Given the description of an element on the screen output the (x, y) to click on. 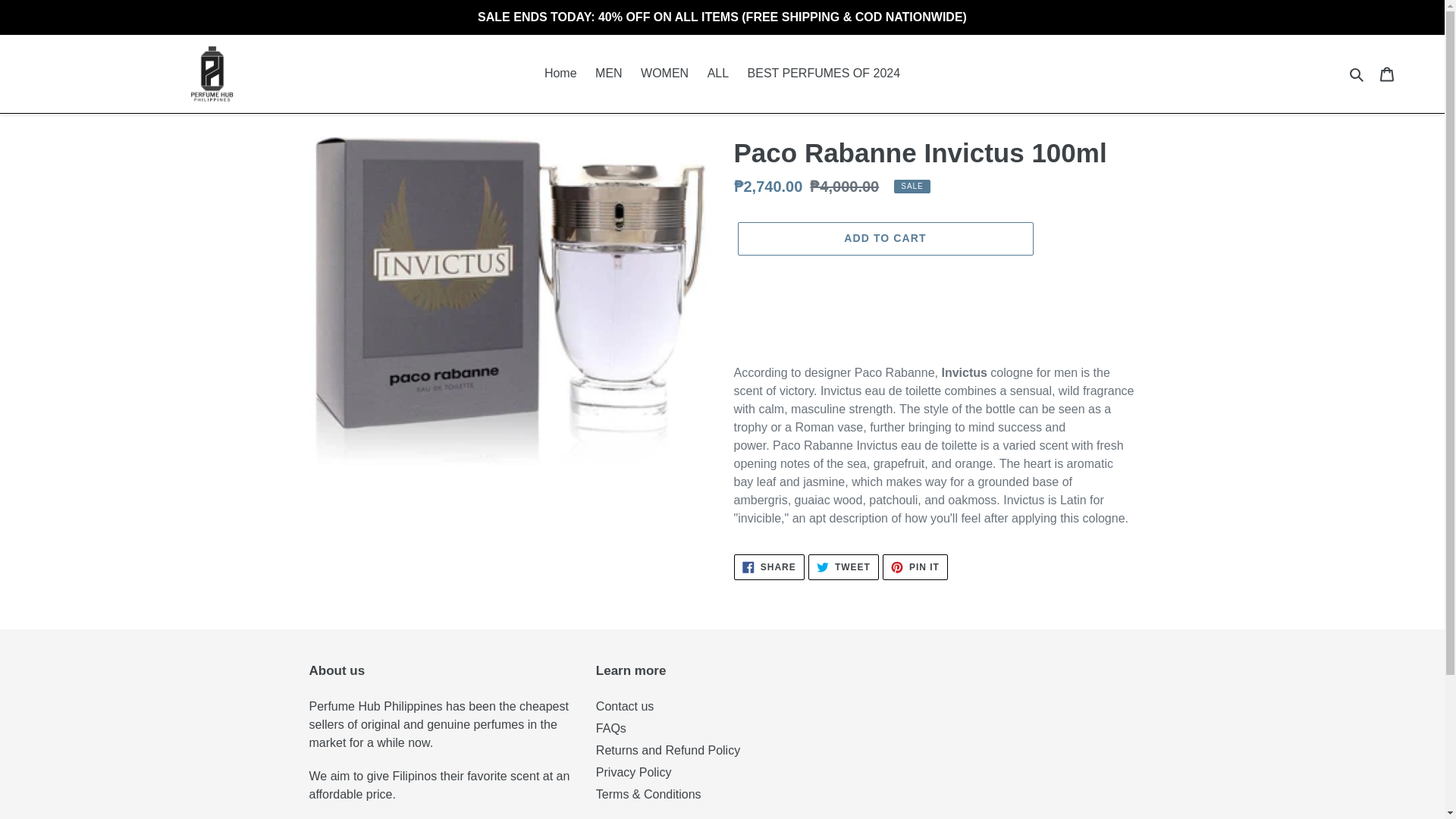
Cart (914, 566)
Contact us (1387, 73)
Search (843, 566)
FAQs (624, 706)
ALL (1357, 73)
WOMEN (610, 727)
Privacy Policy (718, 73)
BEST PERFUMES OF 2024 (664, 73)
Home (633, 771)
ADD TO CART (823, 73)
Returns and Refund Policy (561, 73)
MEN (884, 238)
